Given the description of an element on the screen output the (x, y) to click on. 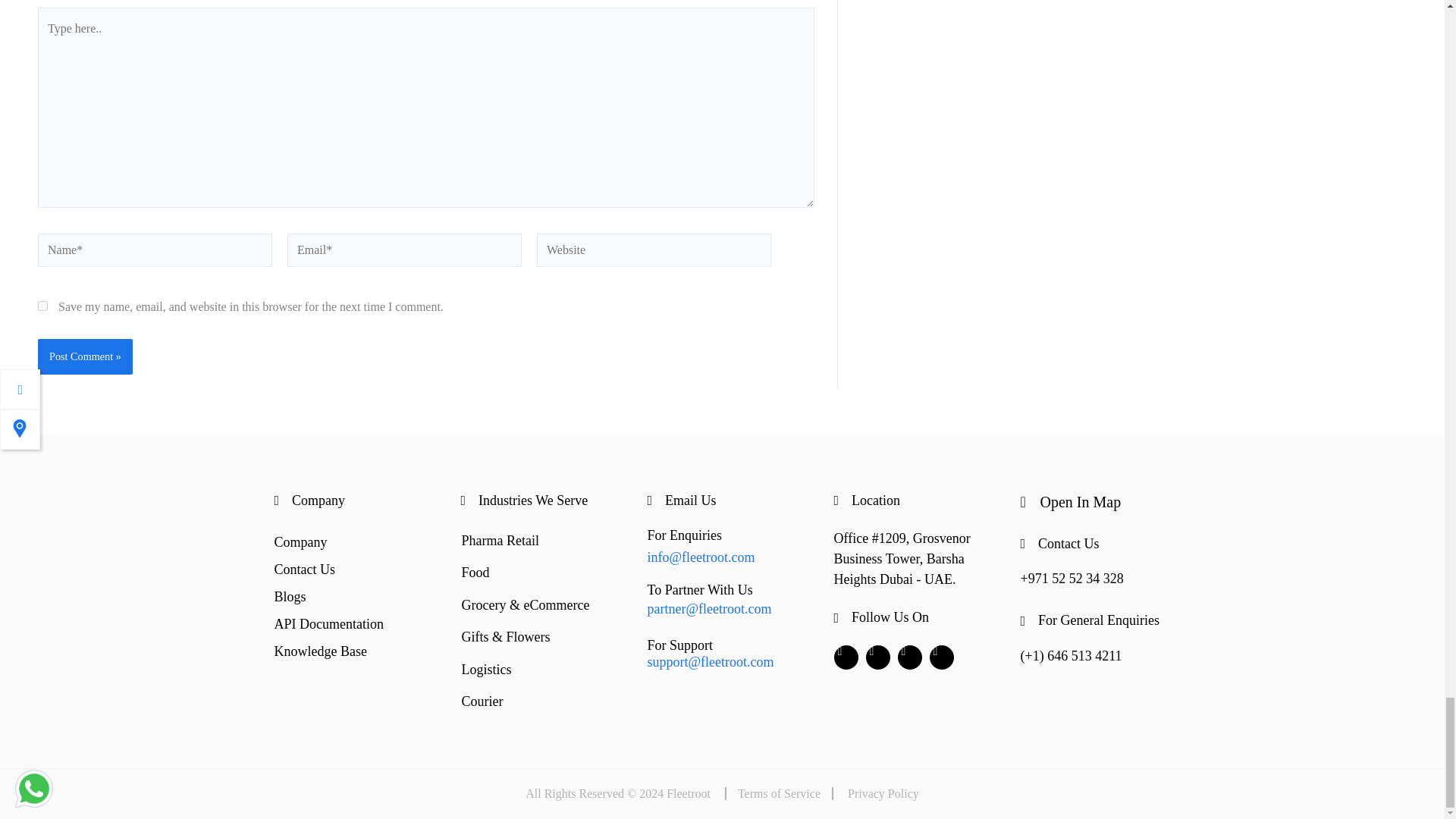
yes (42, 306)
